Given the description of an element on the screen output the (x, y) to click on. 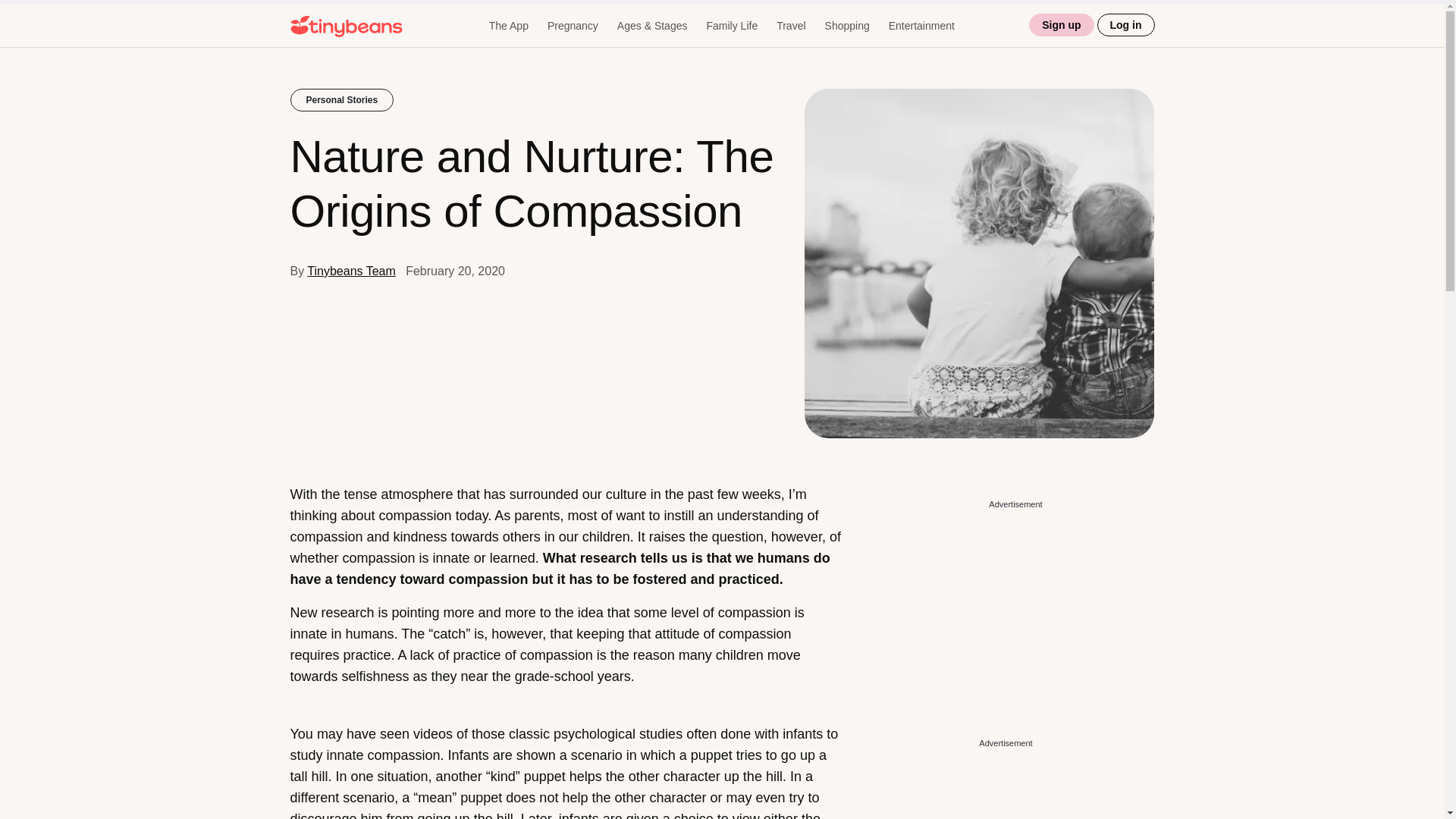
Family Life (731, 25)
Posts by Tinybeans Team (351, 270)
The App (508, 25)
Pregnancy (572, 25)
